Given the description of an element on the screen output the (x, y) to click on. 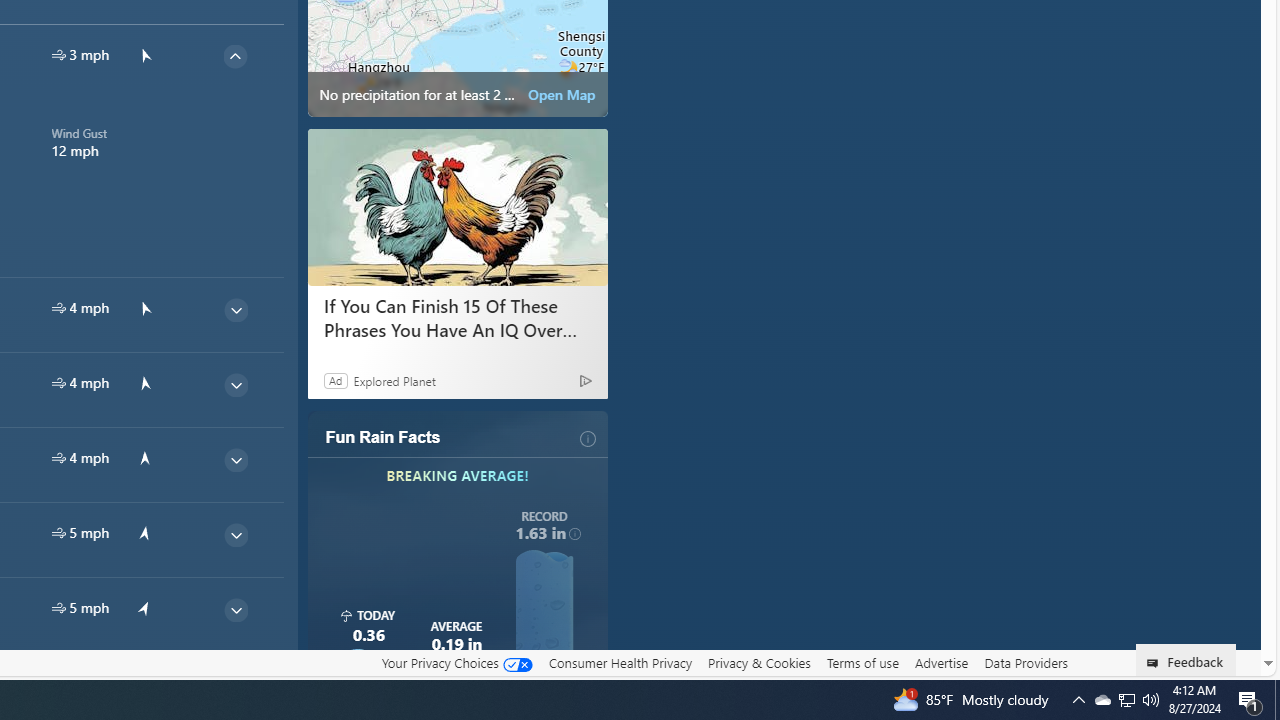
common/thinArrow (235, 684)
Open Map (561, 94)
Data Providers (1025, 662)
Privacy & Cookies (759, 662)
Fun Rain Facts (383, 437)
Data Providers (1025, 663)
